Given the description of an element on the screen output the (x, y) to click on. 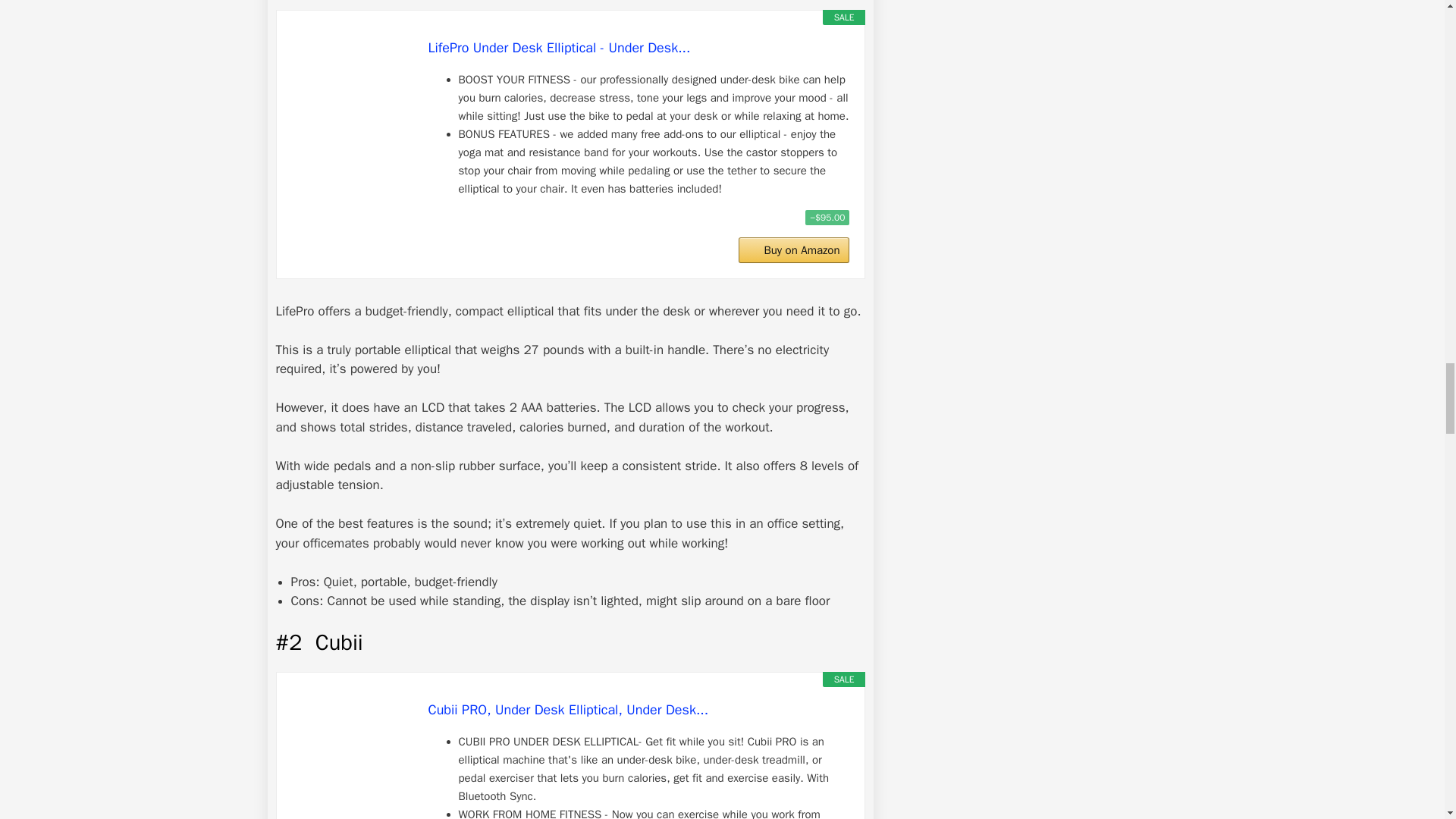
LifePro Under Desk Elliptical - Under Desk... (351, 93)
LifePro Under Desk Elliptical - Under Desk... (638, 47)
Cubii PRO, Under Desk Elliptical, Under Desk... (638, 710)
Cubii PRO, Under Desk Elliptical, Under Desk... (351, 756)
Cubii (338, 642)
Buy on Amazon (793, 249)
